Given the description of an element on the screen output the (x, y) to click on. 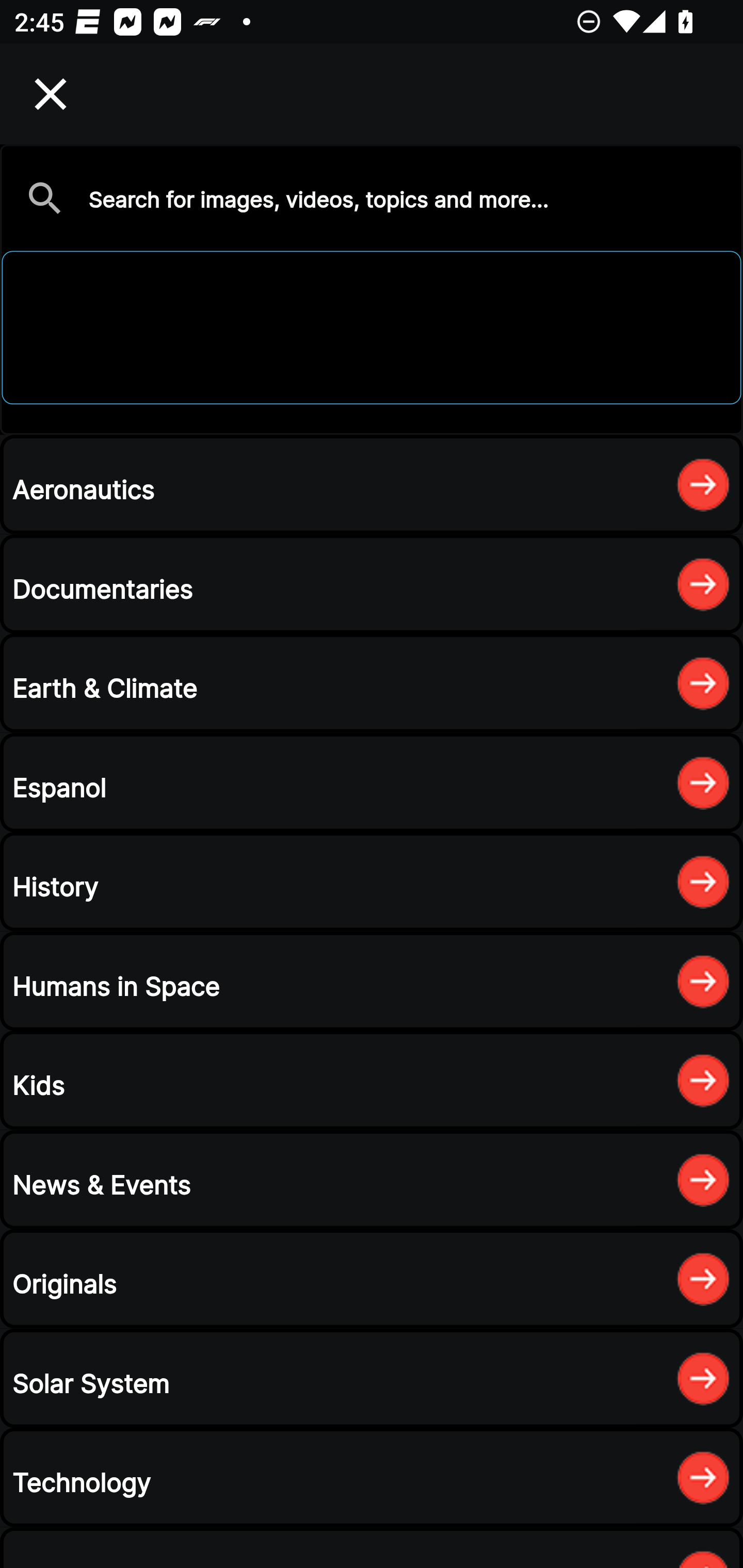
Milky Way (371, 289)
Aeronautics (371, 484)
Documentaries (371, 583)
Earth & Climate (371, 682)
Espanol (371, 782)
History (371, 881)
Humans in Space (371, 980)
Kids (371, 1080)
News & Events (371, 1179)
Originals (371, 1278)
Solar System (371, 1378)
Technology (371, 1477)
